Given the description of an element on the screen output the (x, y) to click on. 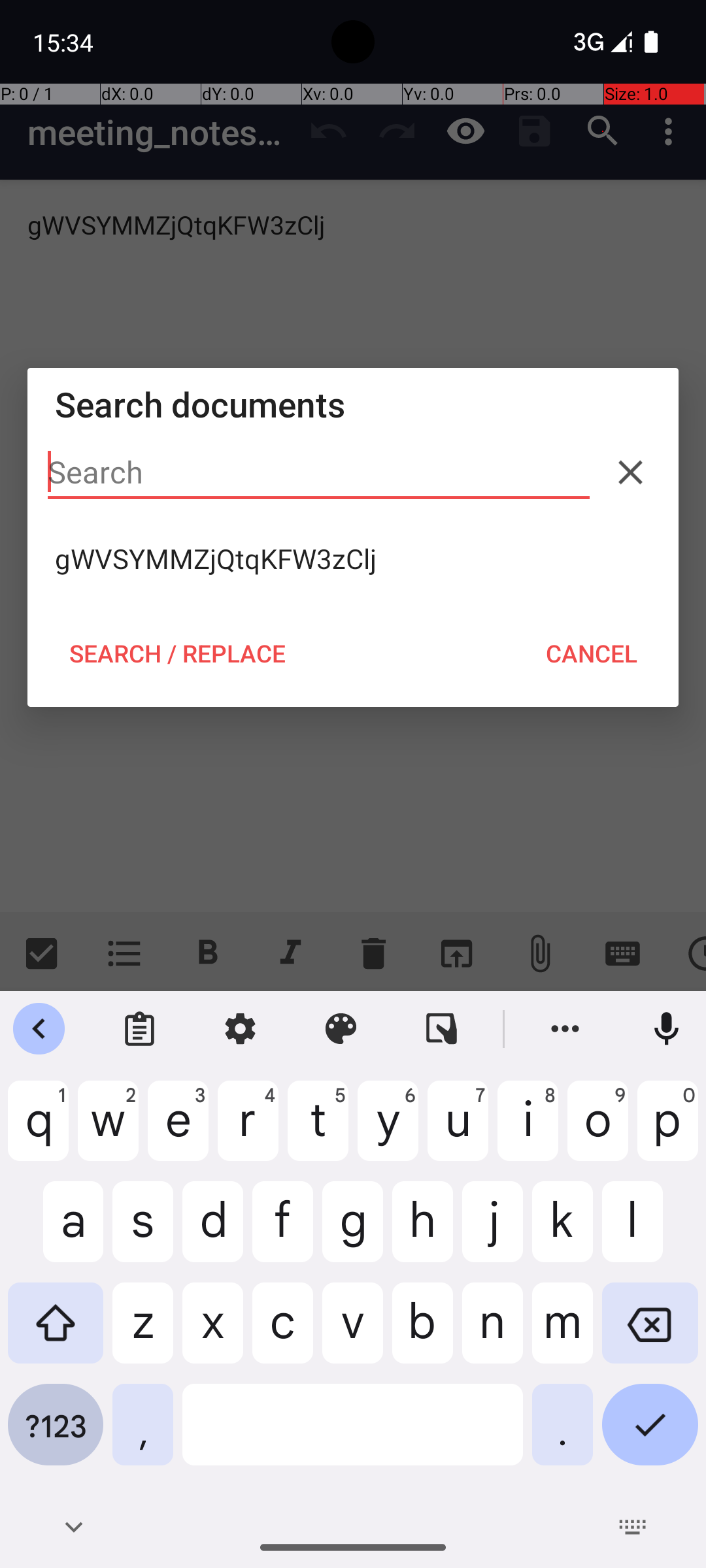
Search documents Element type: android.widget.TextView (352, 403)
gWVSYMMZjQtqKFW3zClj Element type: android.widget.TextView (352, 558)
SEARCH / REPLACE Element type: android.widget.Button (176, 652)
Theme settings Element type: android.widget.FrameLayout (340, 1028)
One handed mode Element type: android.widget.FrameLayout (441, 1028)
Done Element type: android.widget.FrameLayout (649, 1434)
